Given the description of an element on the screen output the (x, y) to click on. 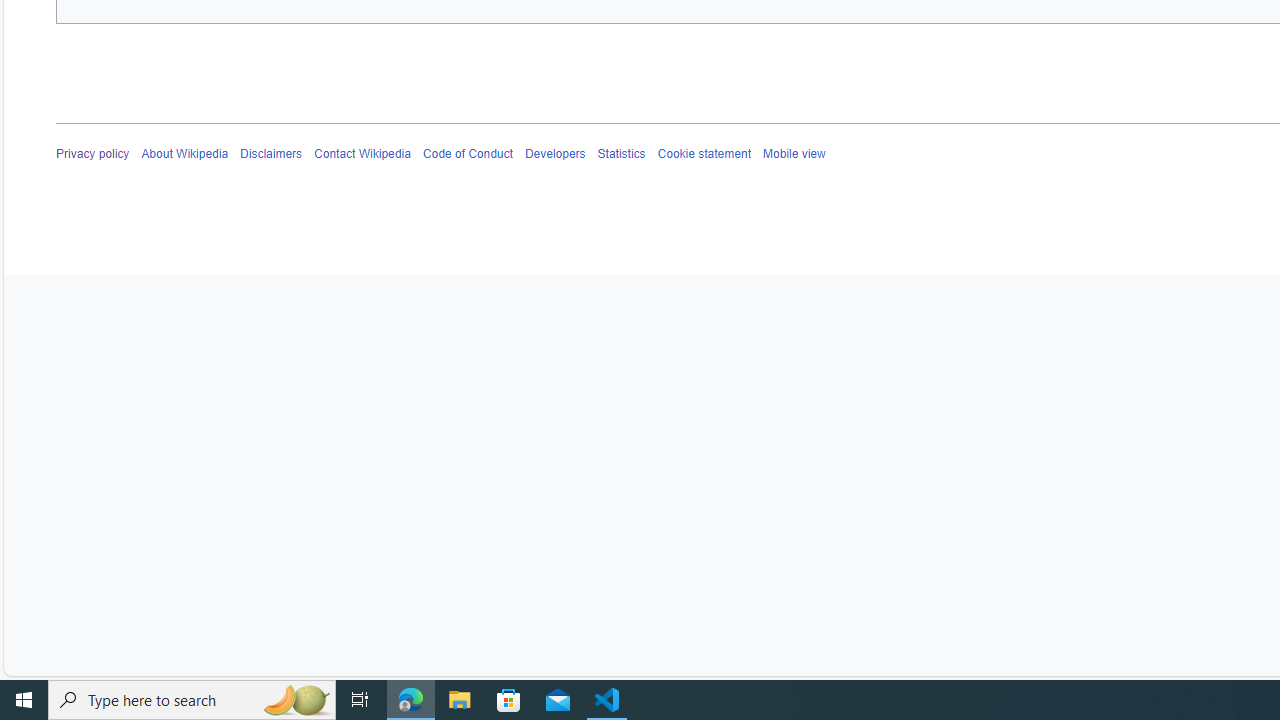
Developers (554, 154)
Disclaimers (271, 154)
Disclaimers (271, 154)
Privacy policy (93, 154)
Statistics (621, 154)
Mobile view (793, 154)
Contact Wikipedia (361, 154)
About Wikipedia (184, 154)
Code of Conduct (467, 154)
Statistics (621, 154)
Cookie statement (703, 154)
Contact Wikipedia (361, 154)
Developers (554, 154)
Mobile view (793, 154)
About Wikipedia (184, 154)
